Given the description of an element on the screen output the (x, y) to click on. 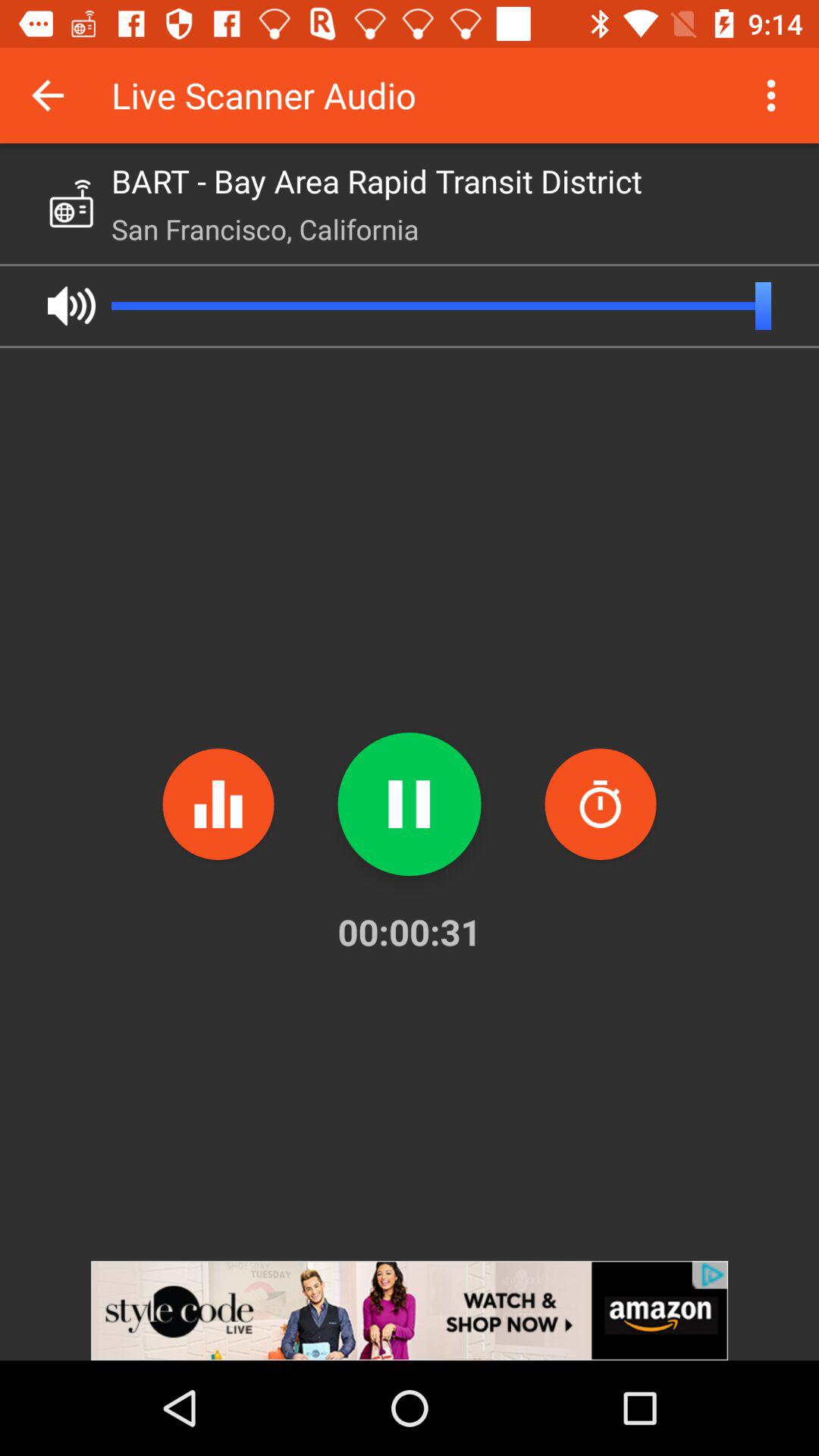
more (771, 95)
